Given the description of an element on the screen output the (x, y) to click on. 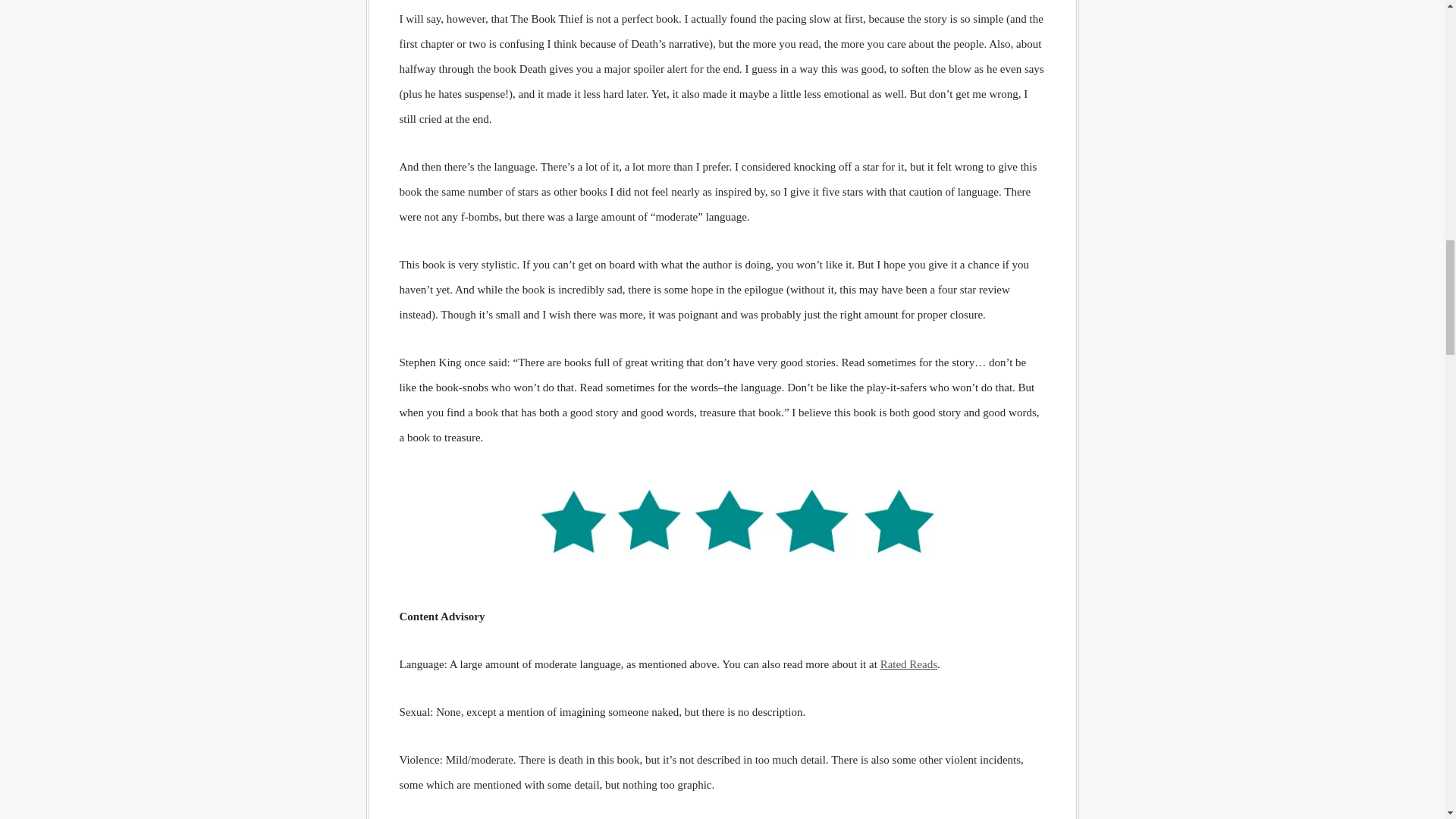
Rated Reads (908, 664)
